Given the description of an element on the screen output the (x, y) to click on. 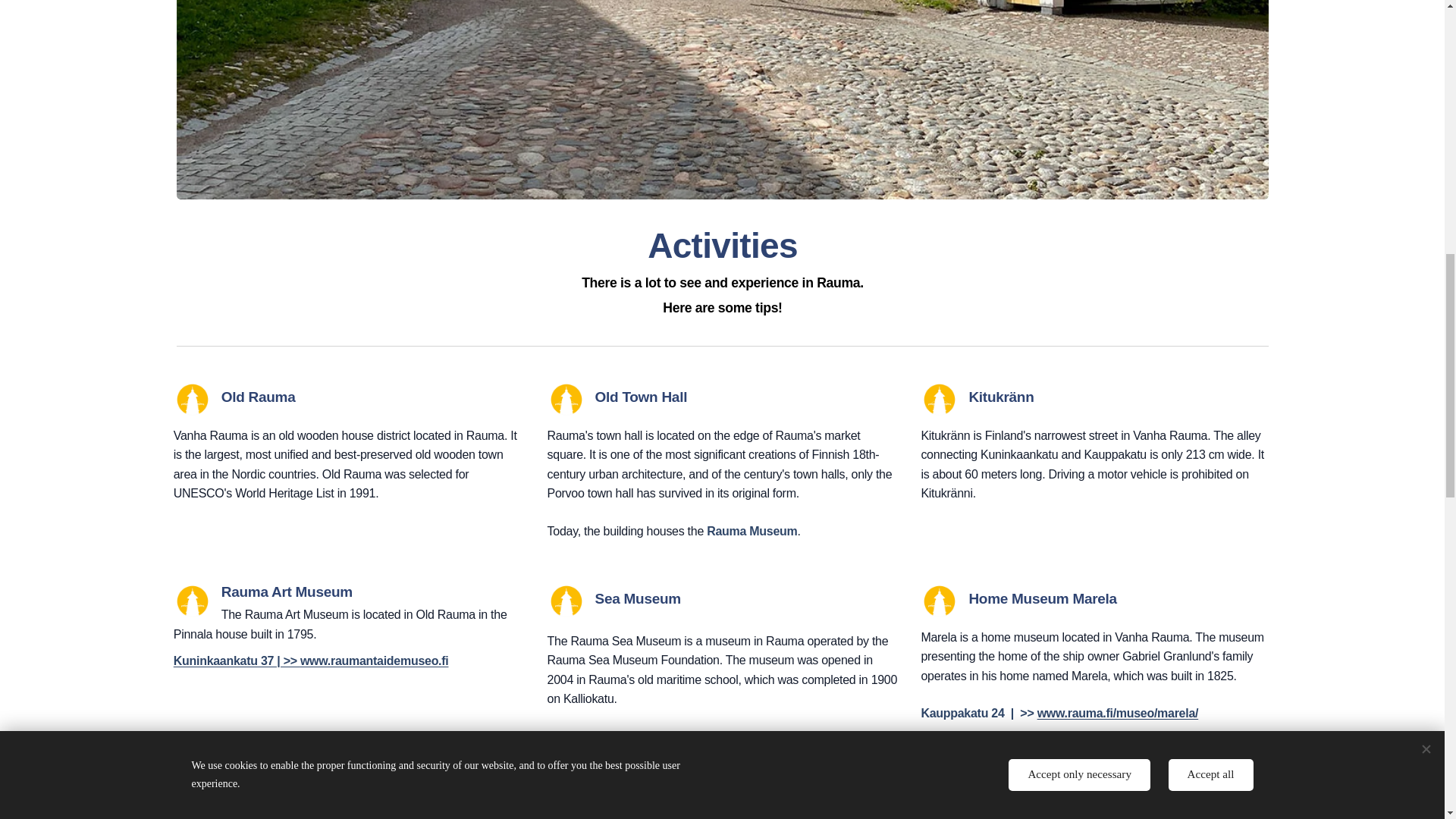
www.raumantaidemuseo.fi (373, 661)
www.rmm.fi (683, 736)
